Given the description of an element on the screen output the (x, y) to click on. 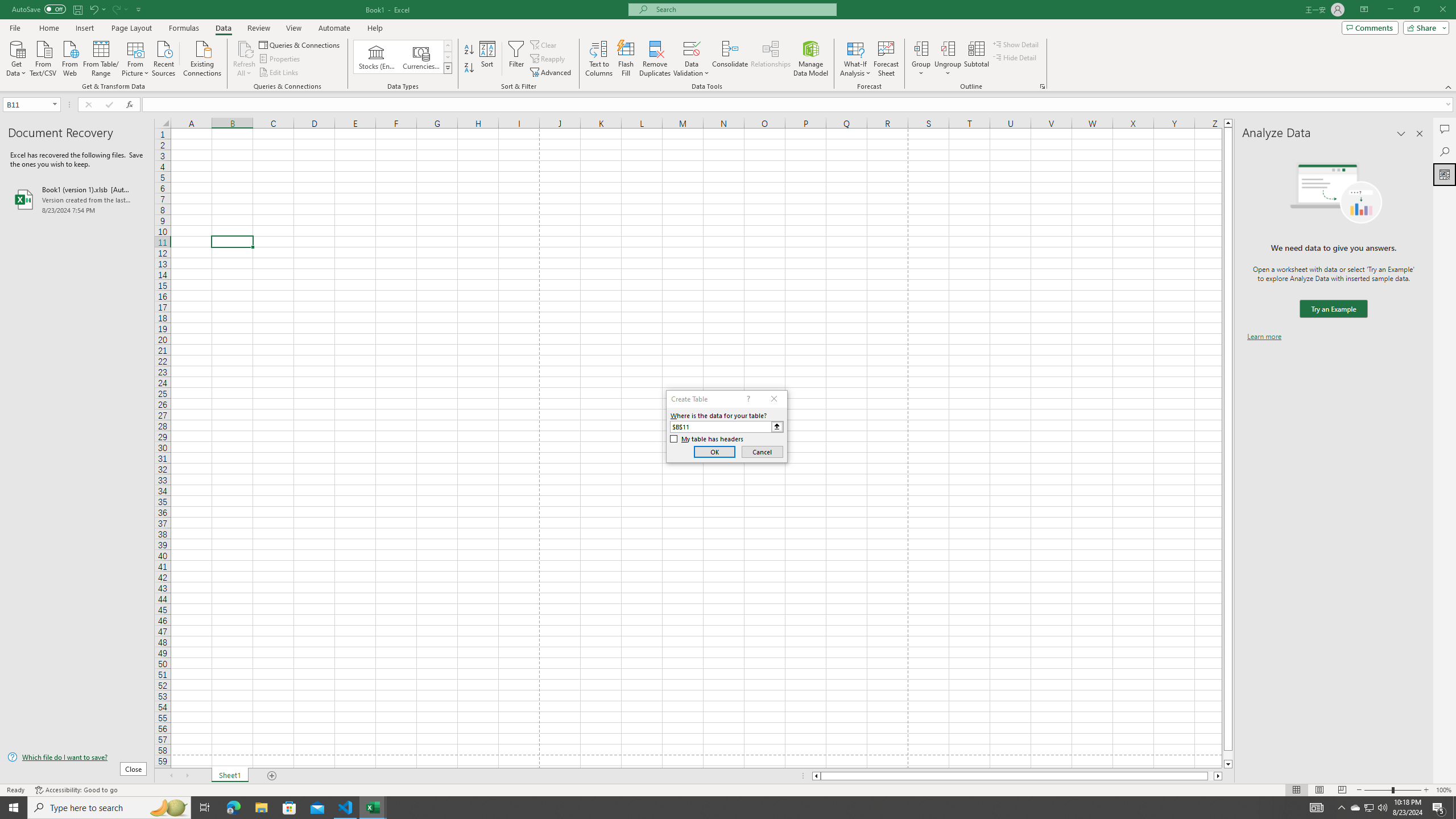
Edit Links (279, 72)
Relationships (770, 58)
